Given the description of an element on the screen output the (x, y) to click on. 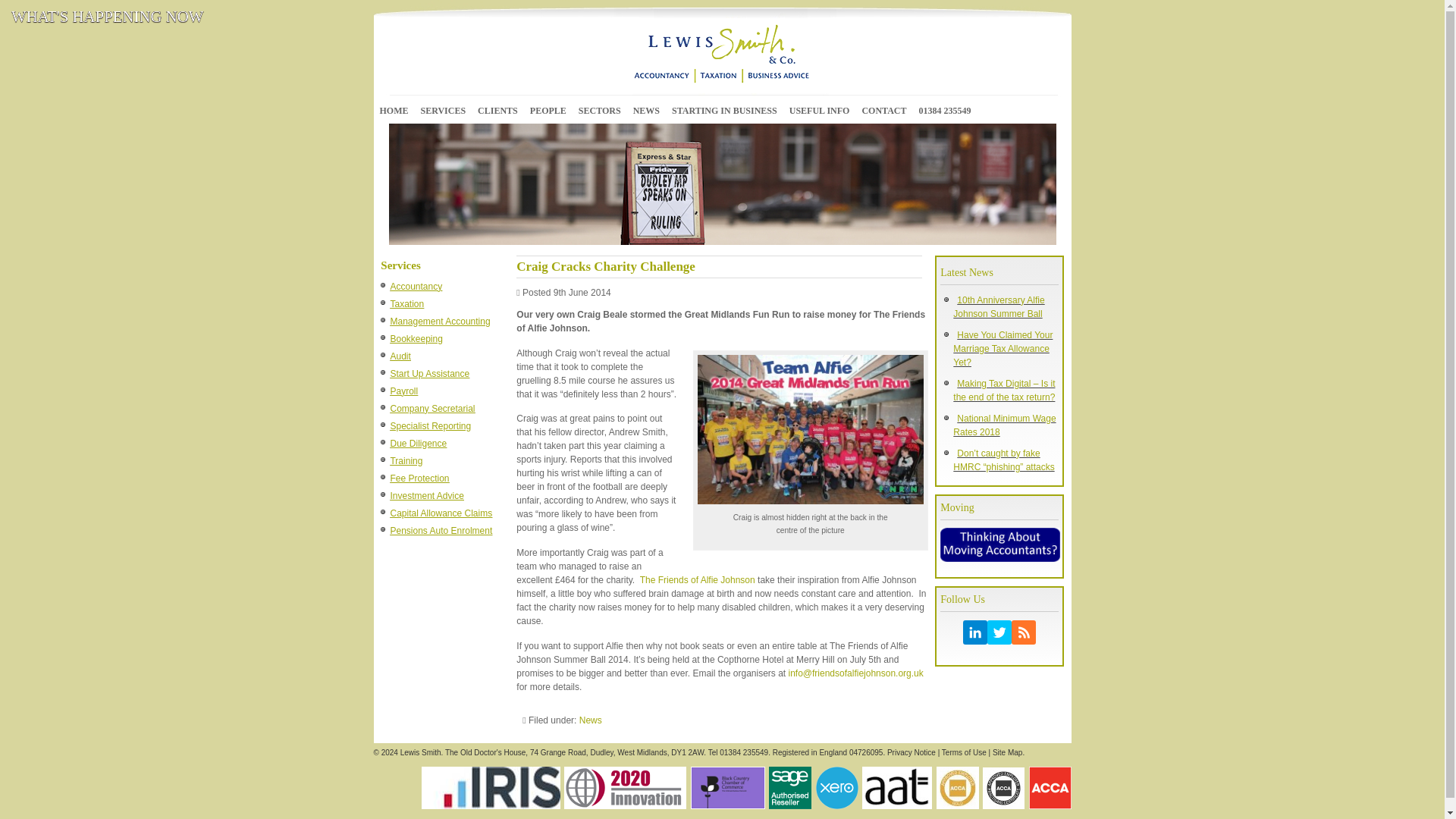
Payroll (402, 392)
CLIENTS (497, 110)
Accountancy (413, 288)
Members of the Association of Accounting Technicians (896, 787)
Audit (397, 358)
SERVICES (442, 110)
Company Secretarial (430, 410)
NEWS (646, 110)
Bookkeeping (413, 340)
Fee Protection (417, 480)
SECTORS (599, 110)
Due Diligence (415, 445)
Taxation (405, 305)
ACCA Qualified Accountants (1048, 787)
Management Accounting (437, 323)
